Given the description of an element on the screen output the (x, y) to click on. 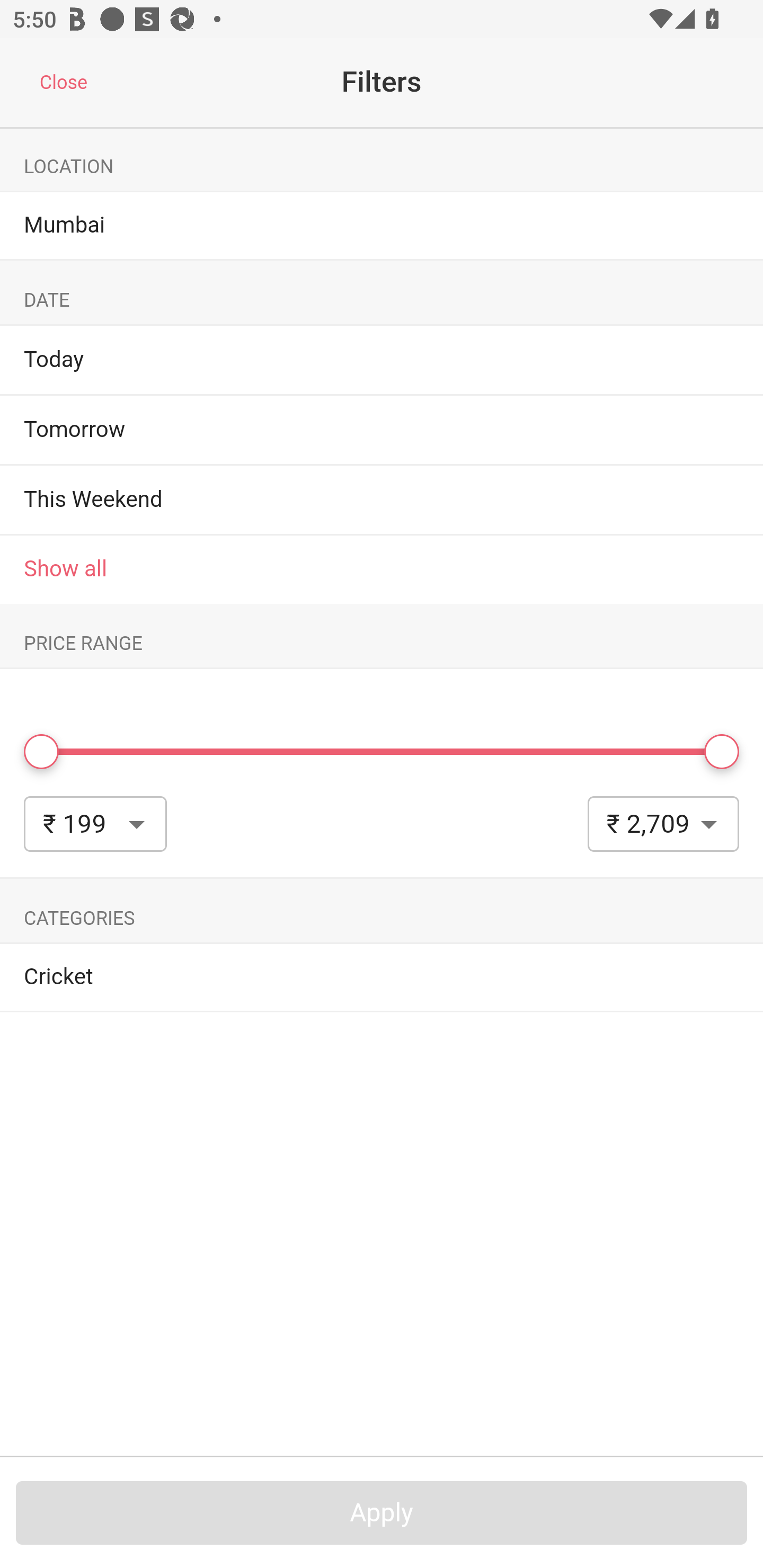
Close (63, 82)
Mumbai (381, 225)
Today (53, 359)
Tomorrow (74, 430)
This Weekend (93, 499)
Show all (381, 568)
Minimum Price Range Indicator (41, 751)
Maximum Price Range Indicator (721, 751)
₹ 199 (95, 823)
₹ 2,709 (662, 823)
Cricket (381, 977)
Apply (381, 1512)
